Given the description of an element on the screen output the (x, y) to click on. 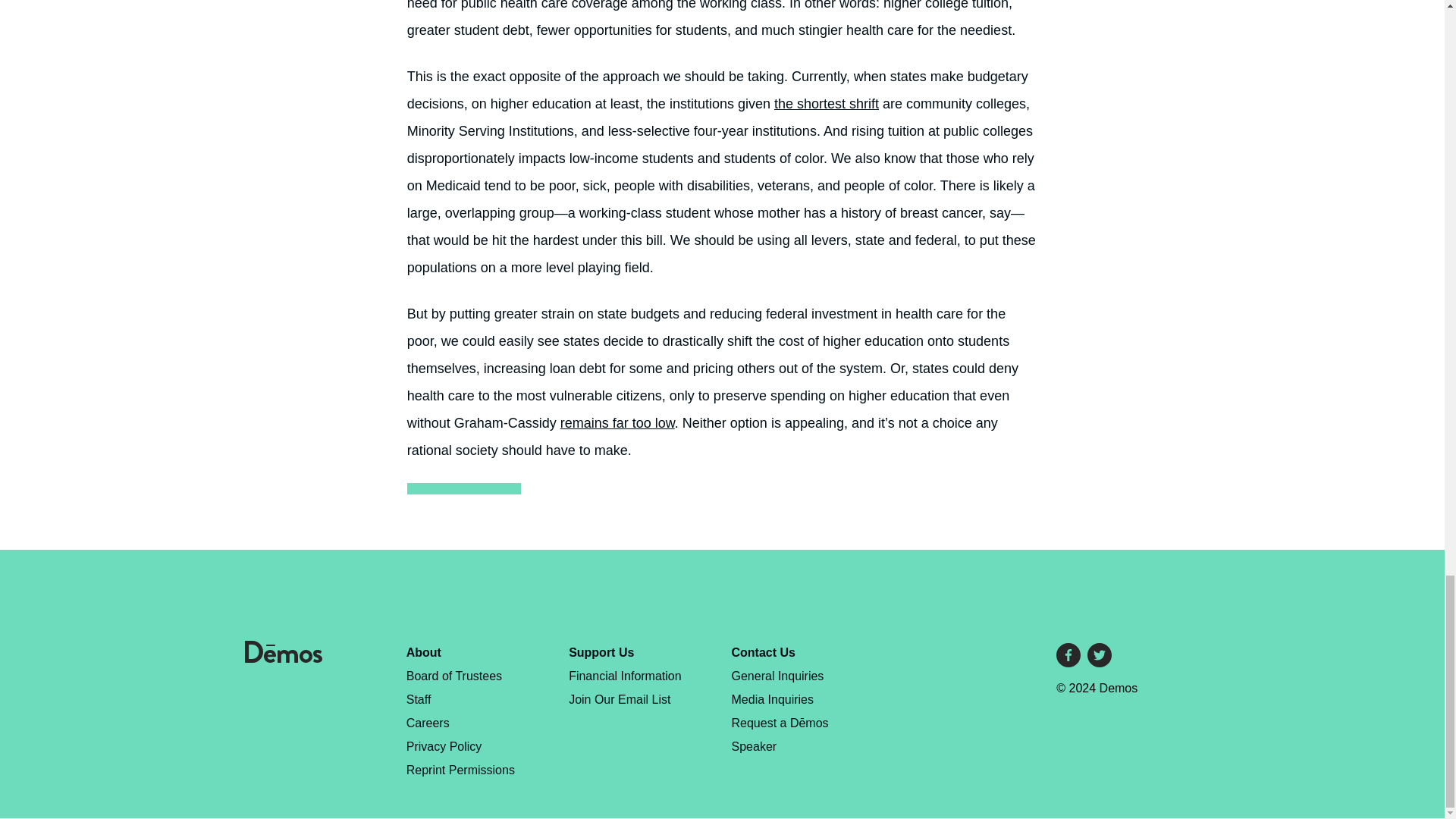
Support Us (601, 652)
Home (282, 658)
About (423, 652)
Financial Information (625, 675)
Staff (418, 698)
Complete a Demos speaker request (780, 734)
About Demos (423, 652)
Privacy Policy (443, 746)
Facebook (1068, 654)
Contact Us (763, 652)
